Given the description of an element on the screen output the (x, y) to click on. 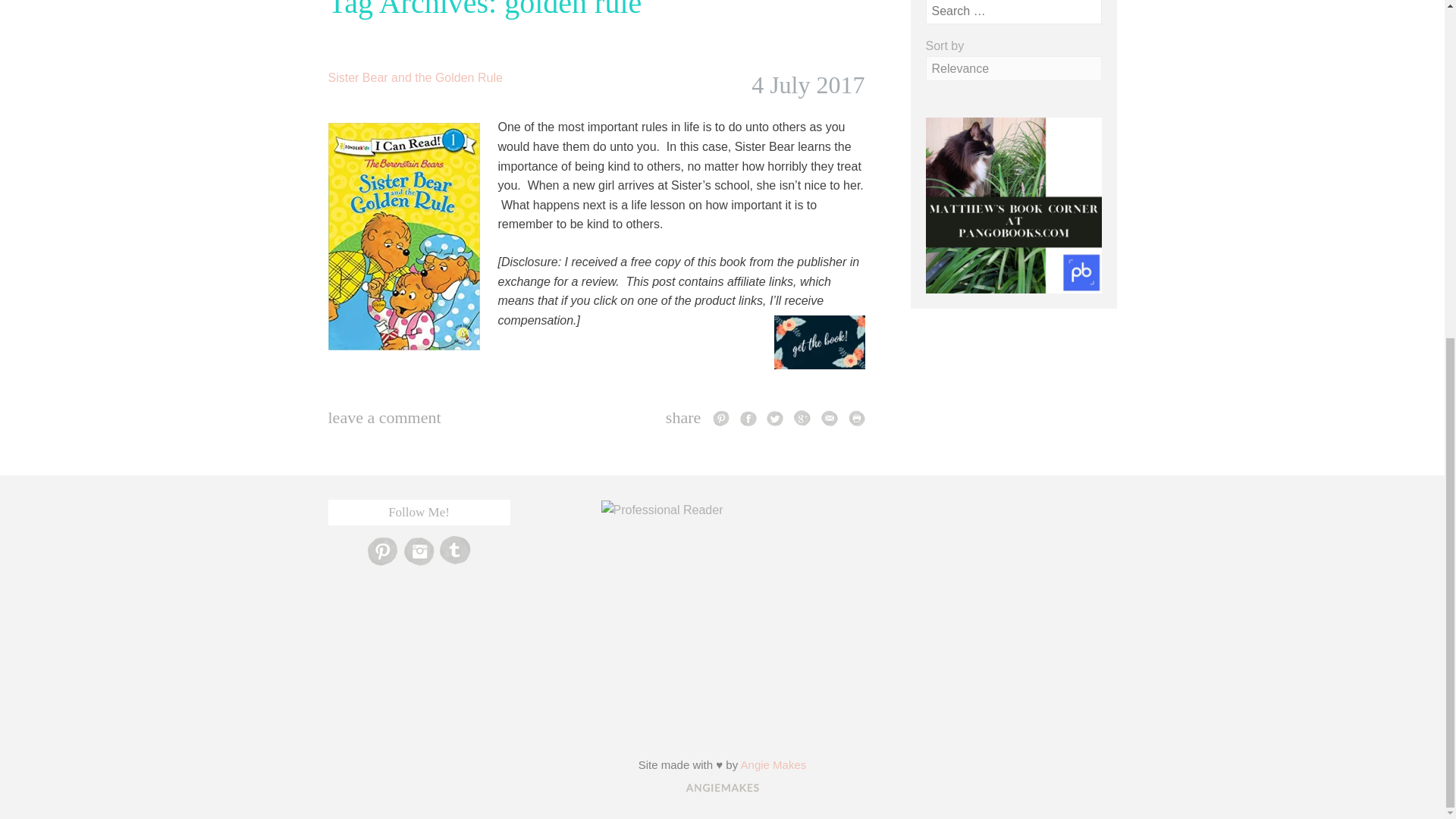
Sister Bear and the Golden Rule (414, 77)
Angie Makes (773, 764)
4 July 2017 (807, 84)
Professional Reader (660, 510)
Share by Email (829, 417)
leave a comment (384, 416)
